Given the description of an element on the screen output the (x, y) to click on. 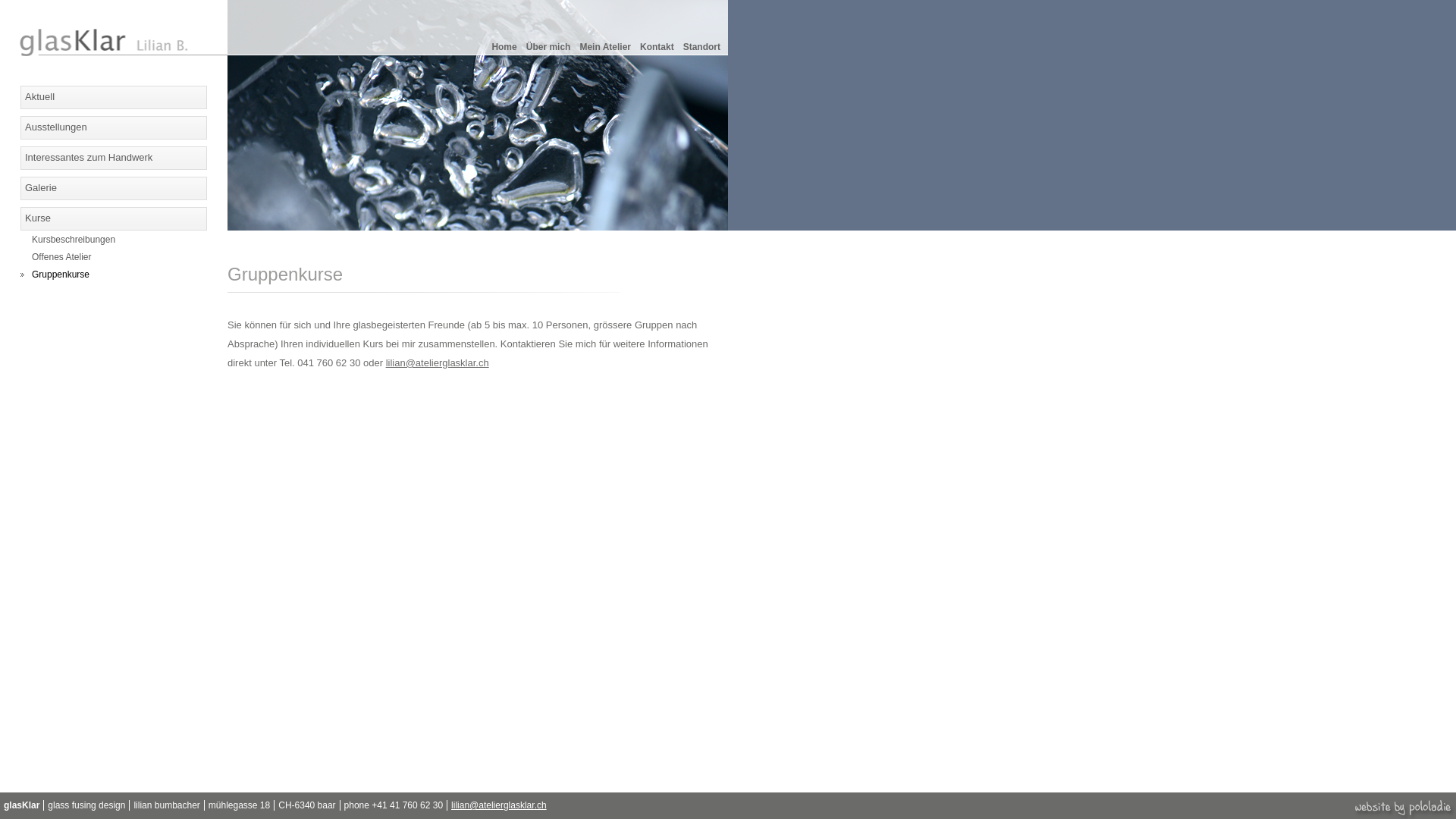
lilian@atelierglasklar.ch Element type: text (437, 362)
Standort Element type: text (701, 46)
lilian@atelierglasklar.ch Element type: text (498, 805)
Mein Atelier Element type: text (604, 46)
Gruppenkurse Element type: text (116, 277)
Ausstellungen Element type: text (113, 127)
Kontakt Element type: text (657, 46)
Galerie Element type: text (113, 188)
Kursbeschreibungen Element type: text (116, 242)
zur Startseite Element type: hover (113, 52)
Home Element type: text (503, 46)
Interessantes zum Handwerk Element type: text (113, 157)
Offenes Atelier Element type: text (116, 260)
Kurse Element type: text (113, 218)
Aktuell Element type: text (113, 97)
